Given the description of an element on the screen output the (x, y) to click on. 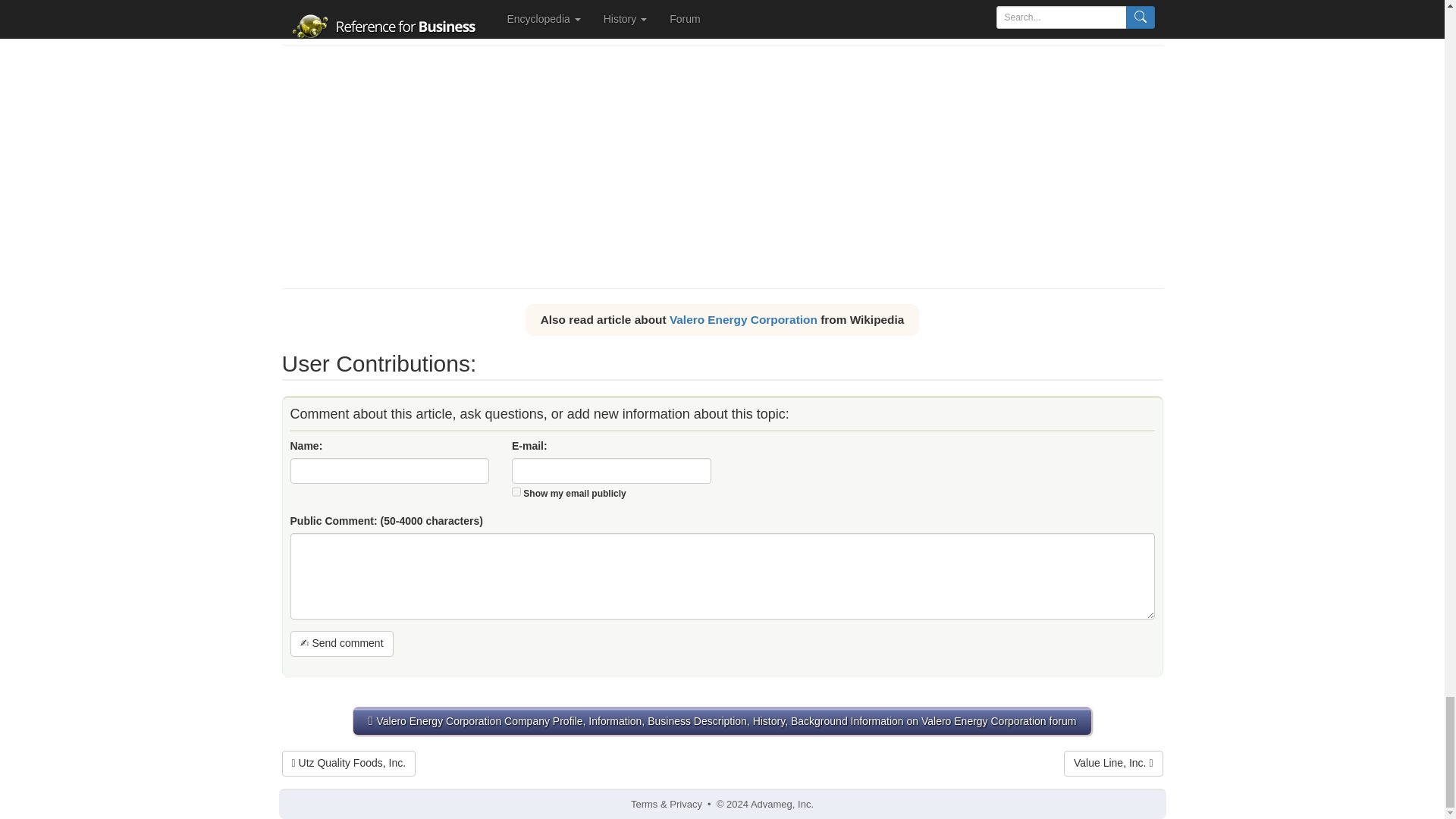
1 (516, 491)
Value Line, Inc. (1113, 763)
Valero Energy Corporation (742, 318)
Utz Quality Foods, Inc. (349, 763)
